Given the description of an element on the screen output the (x, y) to click on. 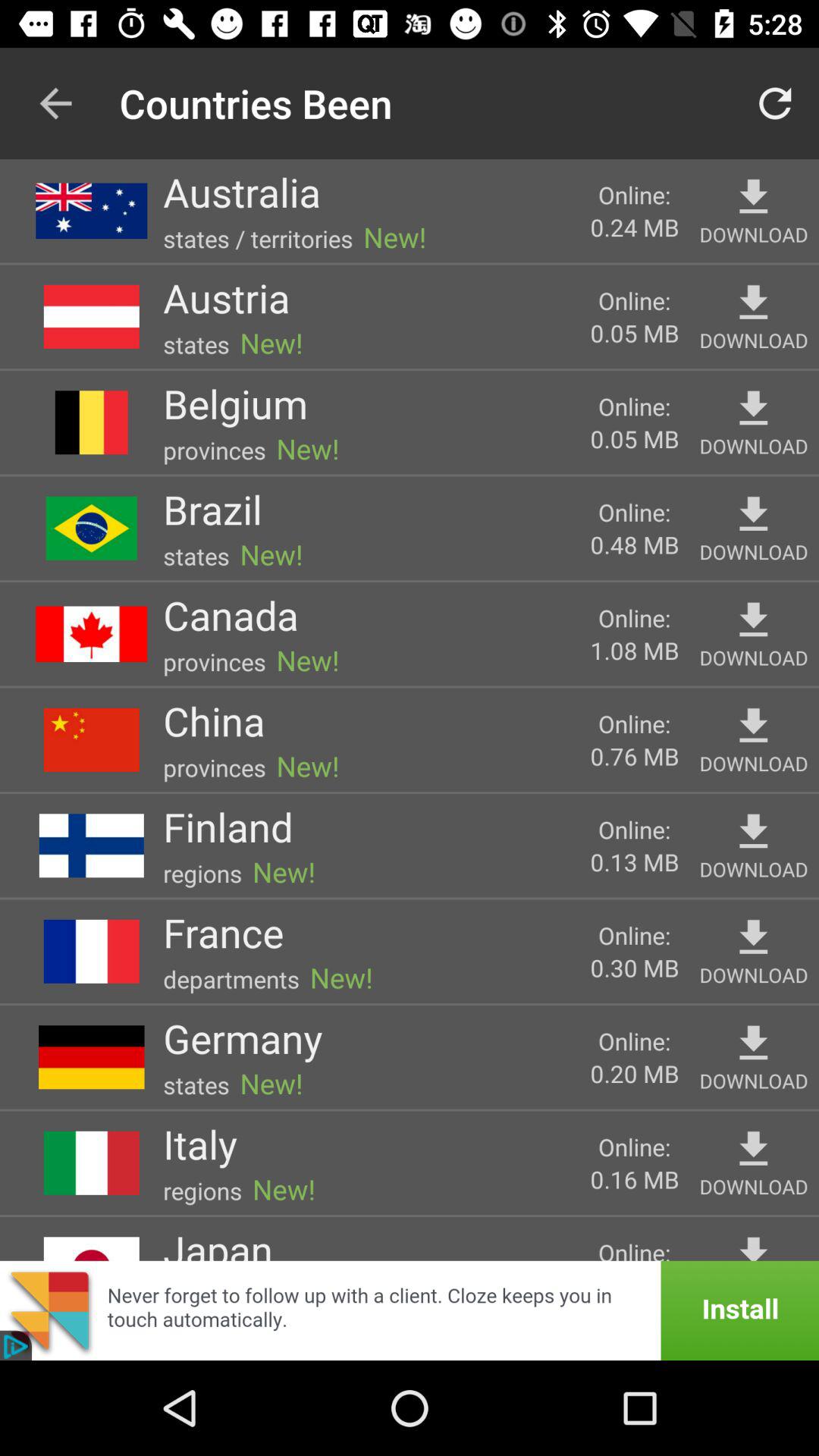
choose the austria (226, 297)
